Given the description of an element on the screen output the (x, y) to click on. 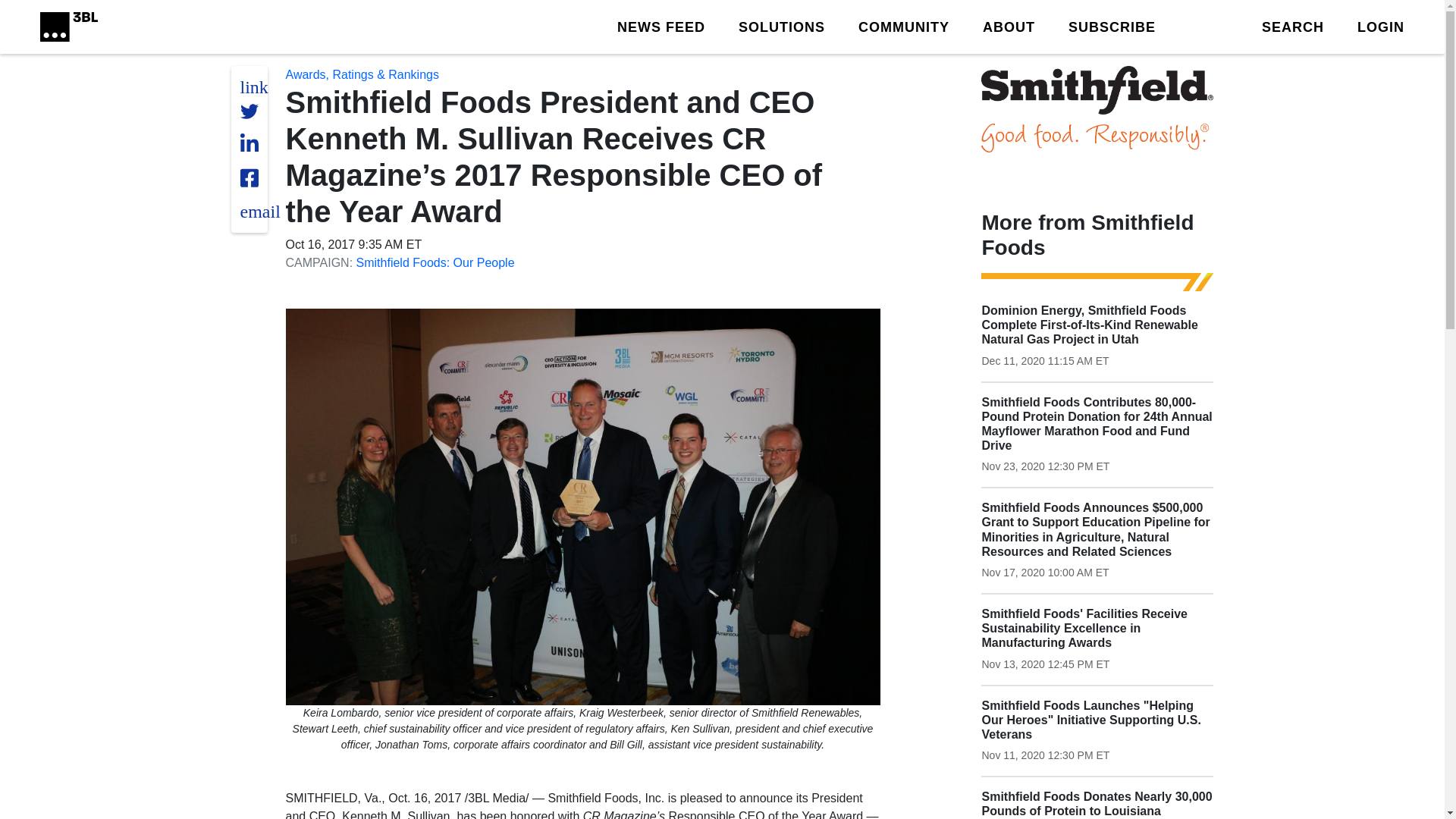
SOLUTIONS (781, 26)
NEWS FEED (660, 26)
link to 3 B L Media's Twitter (253, 87)
Share via email (259, 211)
SUBSCRIBE (1112, 26)
COMMUNITY (904, 26)
ABOUT (1008, 26)
